Given the description of an element on the screen output the (x, y) to click on. 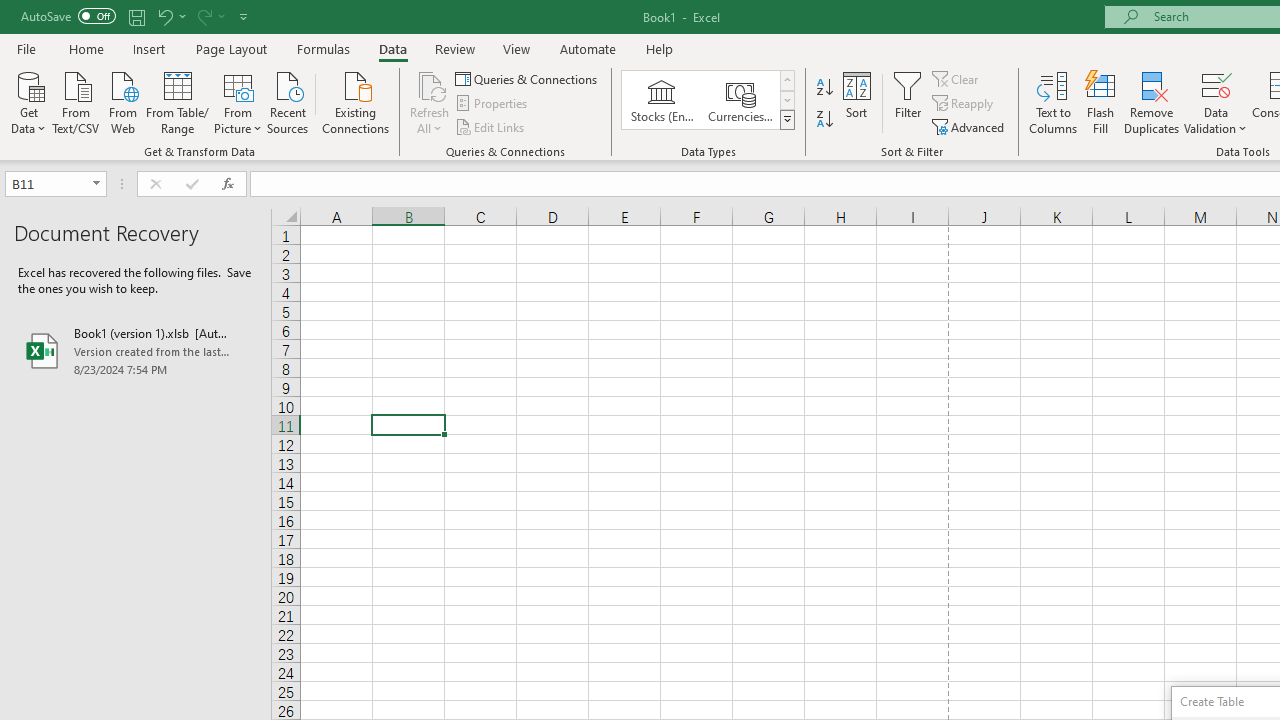
Remove Duplicates (1151, 102)
Book1 (version 1).xlsb  [AutoRecovered] (136, 350)
Data Validation... (1215, 84)
Text to Columns... (1053, 102)
Reapply (964, 103)
Sort... (856, 102)
Clear (957, 78)
AutomationID: ConvertToLinkedEntity (708, 99)
Get Data (28, 101)
From Web (122, 101)
Class: NetUIImage (787, 119)
From Picture (238, 101)
